Given the description of an element on the screen output the (x, y) to click on. 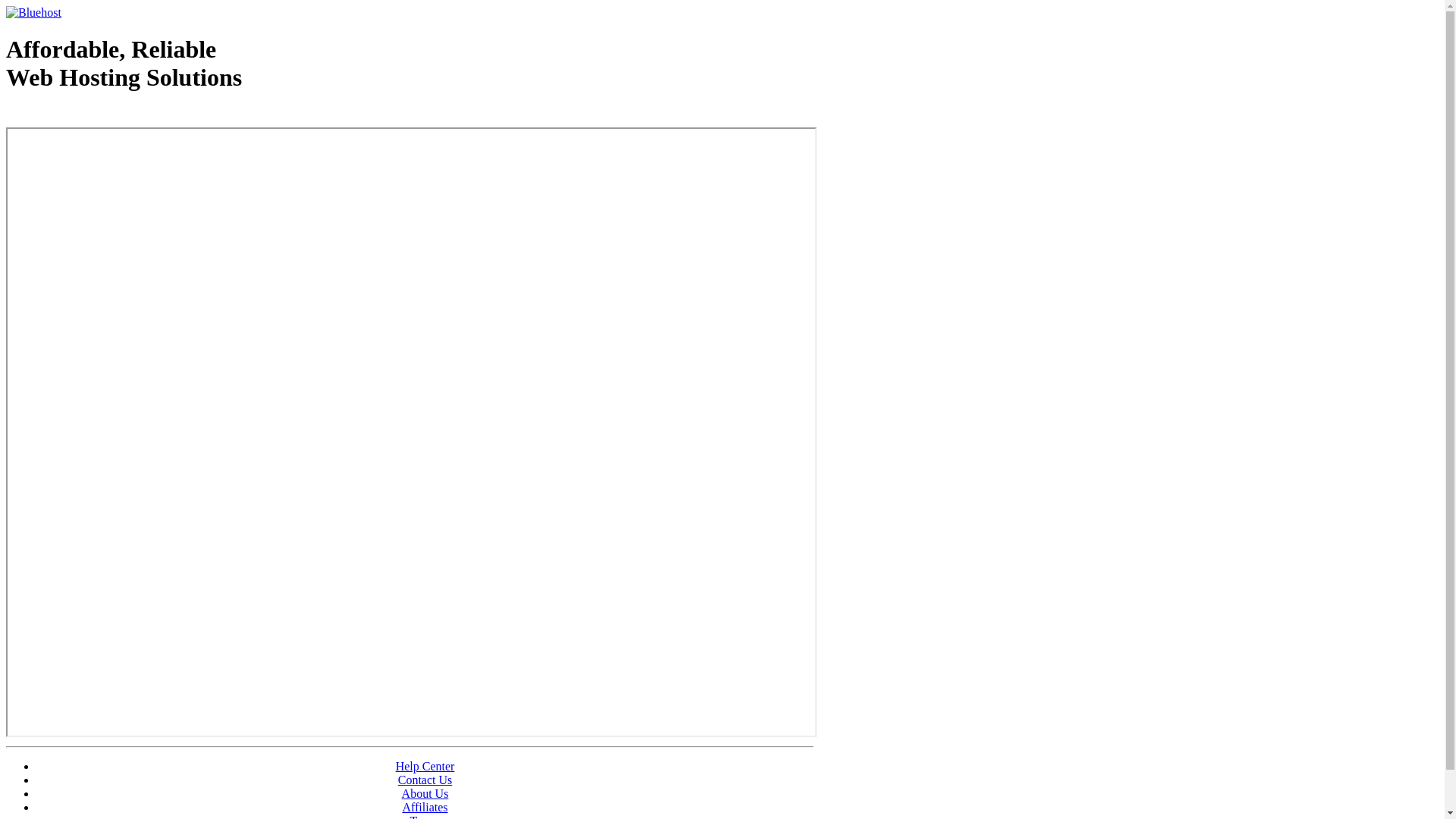
About Us Element type: text (424, 793)
Affiliates Element type: text (424, 806)
Web Hosting - courtesy of www.bluehost.com Element type: text (94, 115)
Contact Us Element type: text (425, 779)
Help Center Element type: text (425, 765)
